Given the description of an element on the screen output the (x, y) to click on. 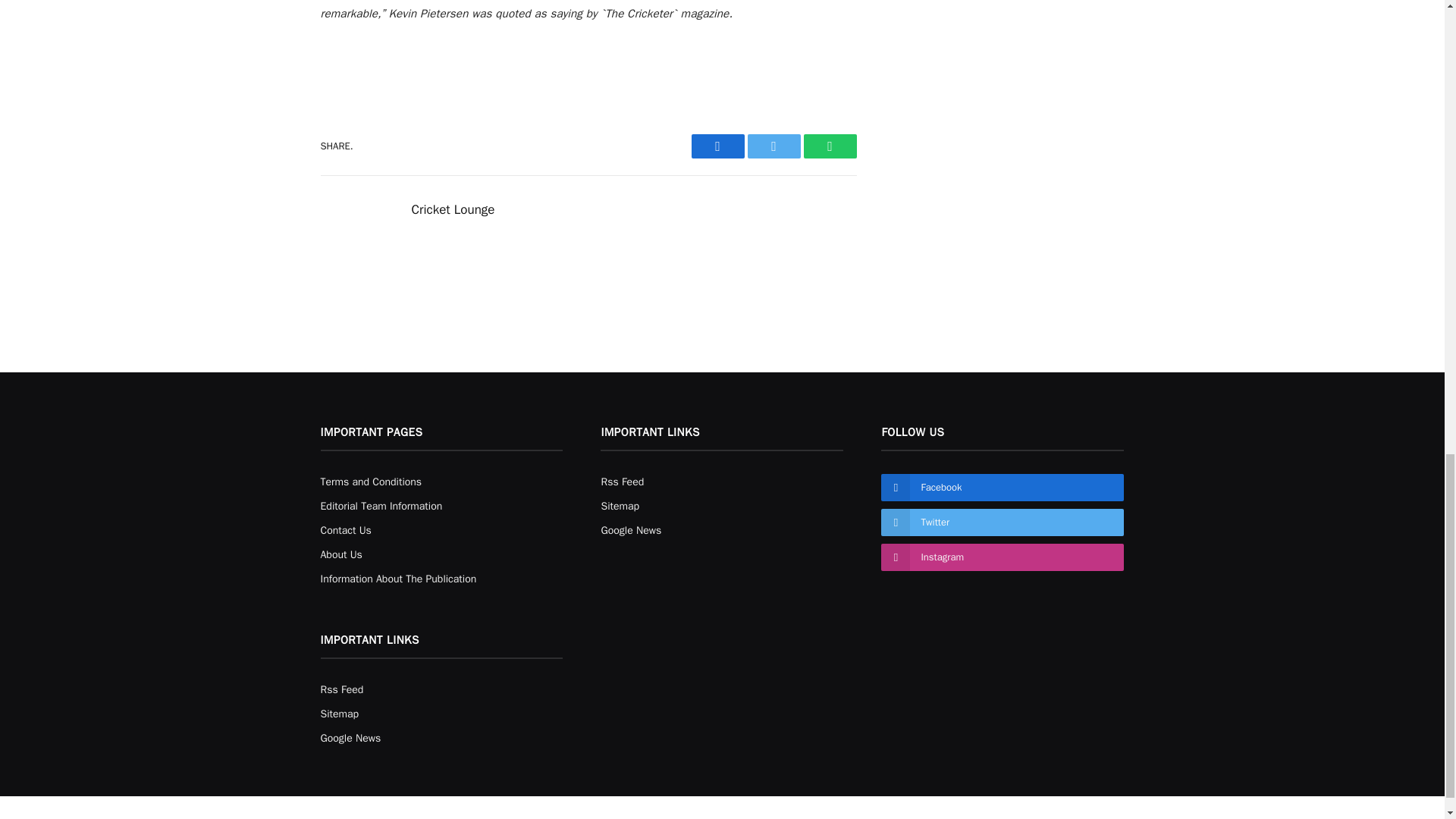
Twitter (774, 146)
Cricket Lounge (452, 209)
WhatsApp (830, 146)
Share on Facebook (717, 146)
Facebook (717, 146)
Posts by Cricket Lounge (452, 209)
Share on WhatsApp (830, 146)
